Given the description of an element on the screen output the (x, y) to click on. 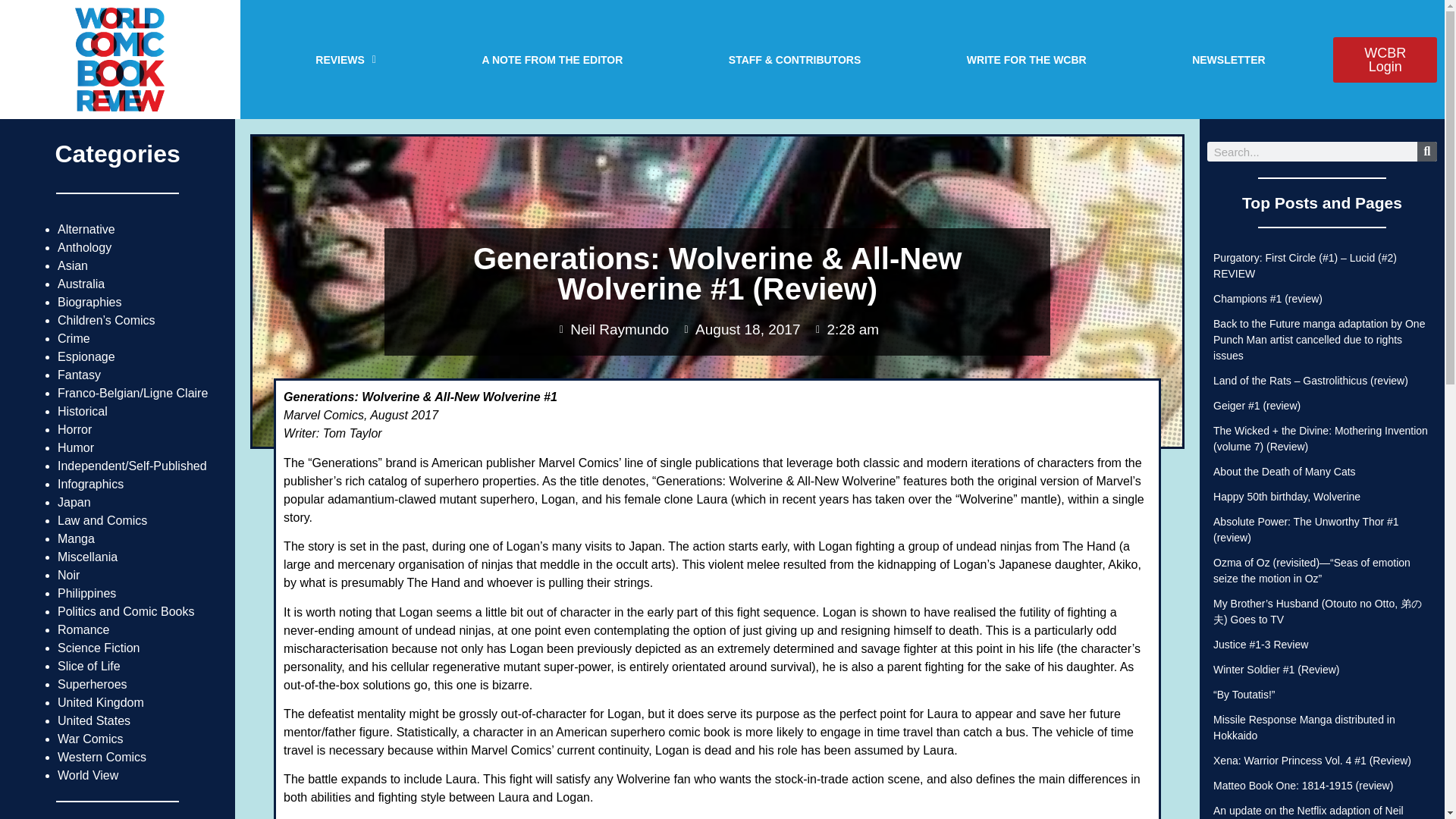
Australia (81, 283)
REVIEWS (346, 59)
NEWSLETTER (1227, 59)
Crime (74, 338)
A NOTE FROM THE EDITOR (552, 59)
Historical (82, 410)
Anthology (85, 246)
Biographies (90, 301)
WCBR Login (1385, 59)
Espionage (86, 356)
WRITE FOR THE WCBR (1026, 59)
Fantasy (79, 374)
Alternative (86, 228)
Asian (72, 265)
